Given the description of an element on the screen output the (x, y) to click on. 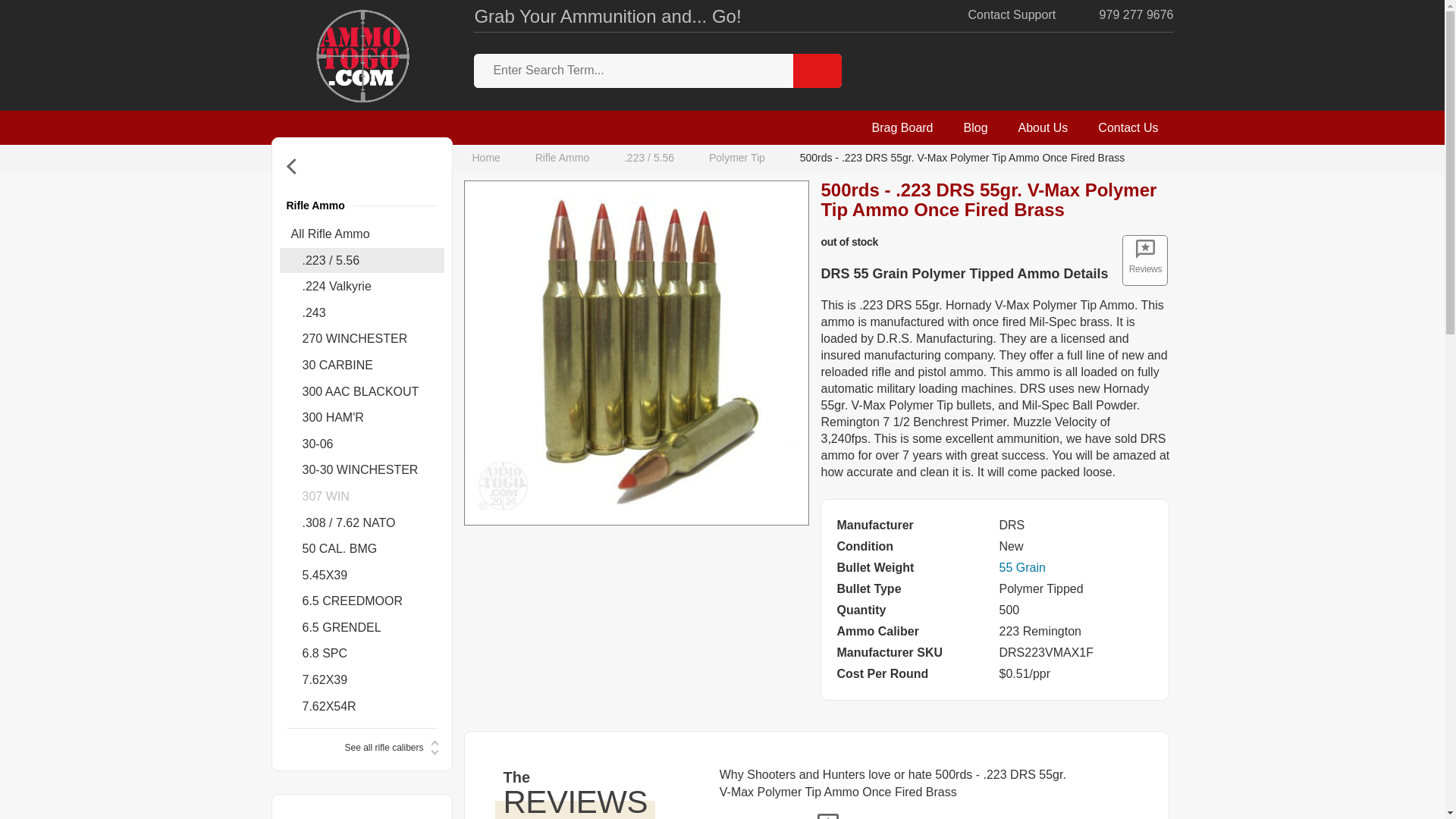
Reviews (1144, 260)
Home (488, 158)
About Us (1043, 127)
Reviews (1144, 260)
Contact Us (1128, 127)
LEAVE A REVIEW (778, 817)
55 Grain (1021, 567)
Contact Support (1000, 15)
979 277 9676 (1123, 15)
Search (817, 70)
